Given the description of an element on the screen output the (x, y) to click on. 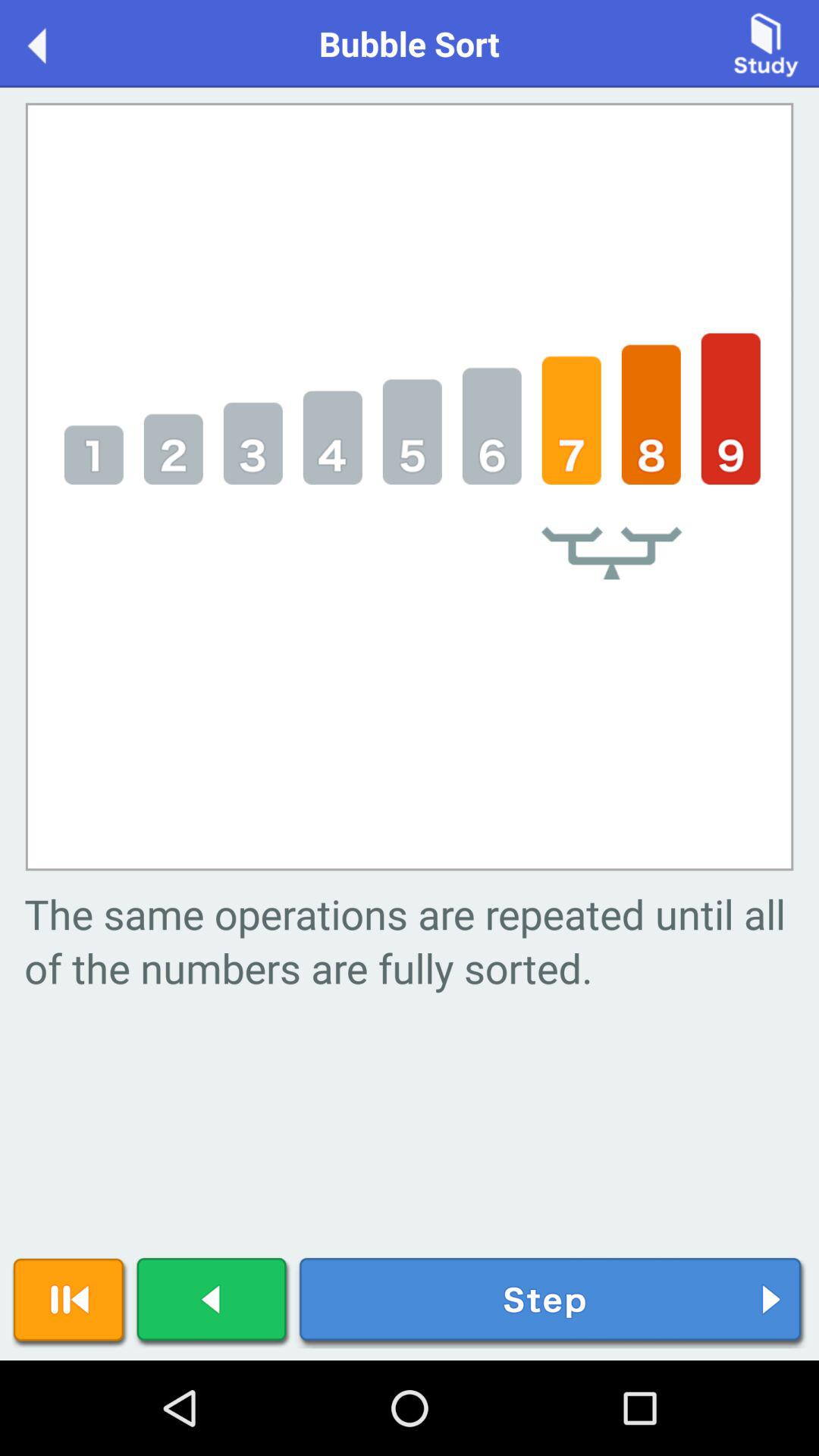
choose item next to bubble sort item (52, 42)
